Given the description of an element on the screen output the (x, y) to click on. 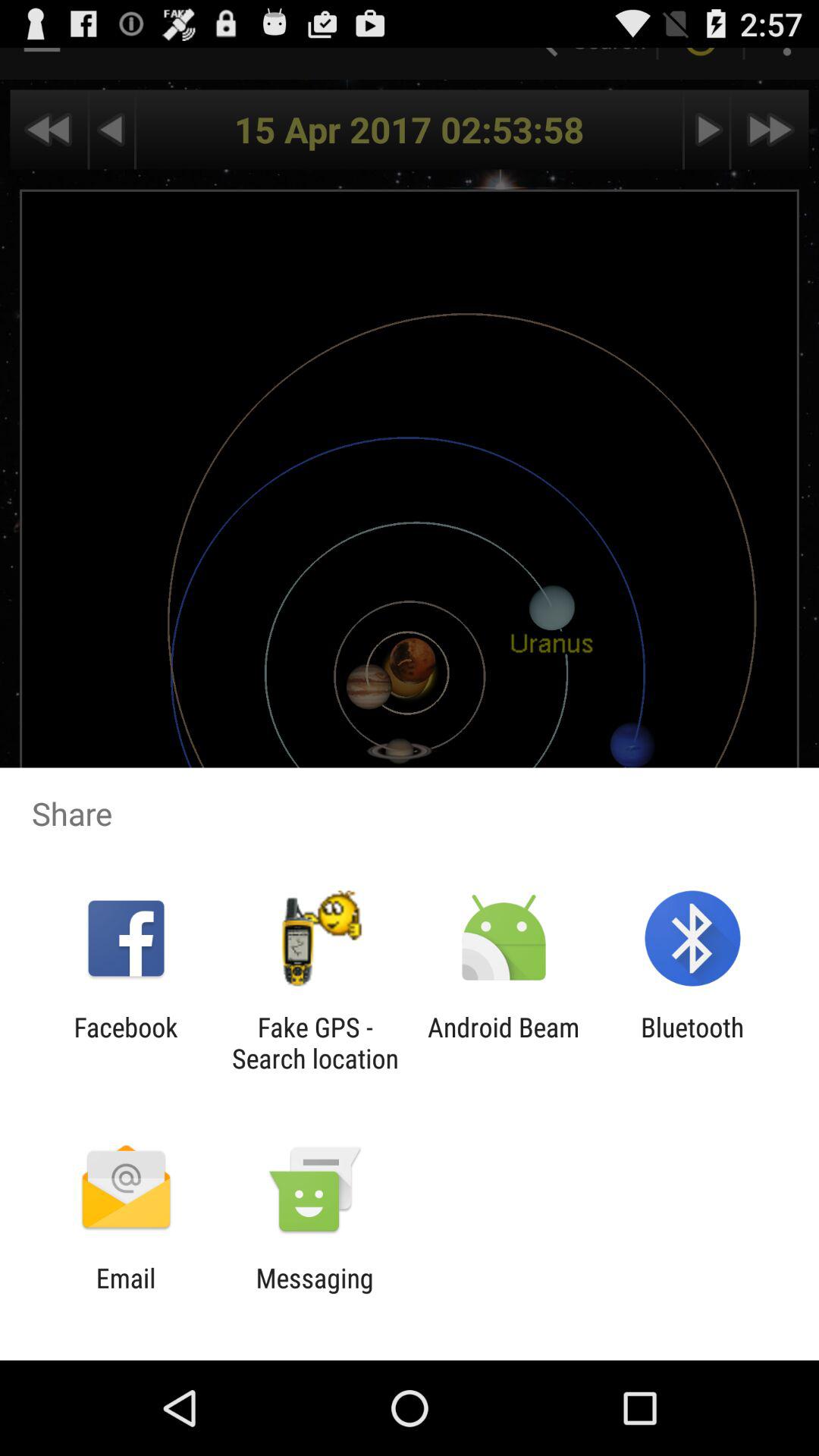
launch bluetooth item (691, 1042)
